Given the description of an element on the screen output the (x, y) to click on. 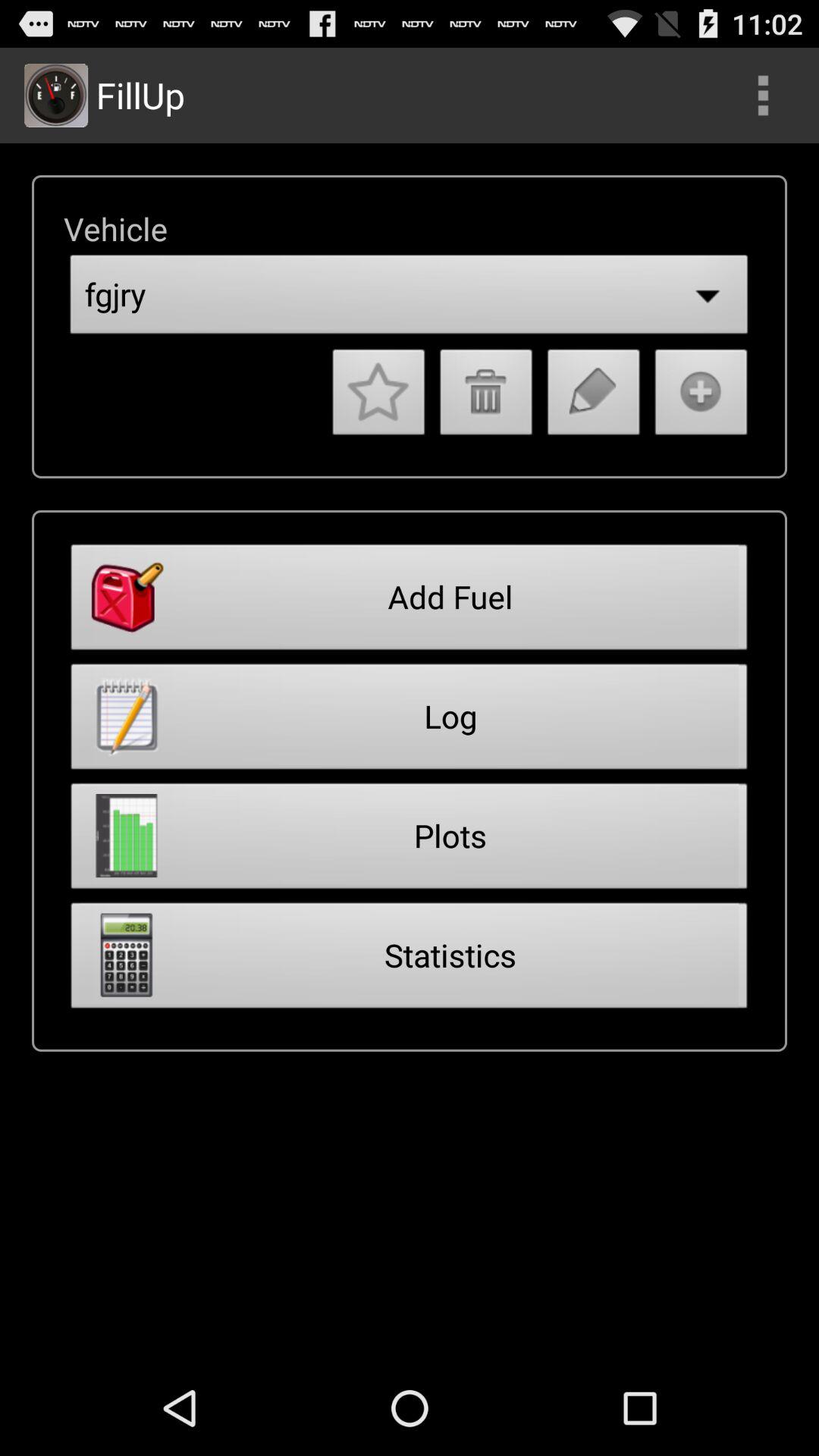
search (763, 95)
